Given the description of an element on the screen output the (x, y) to click on. 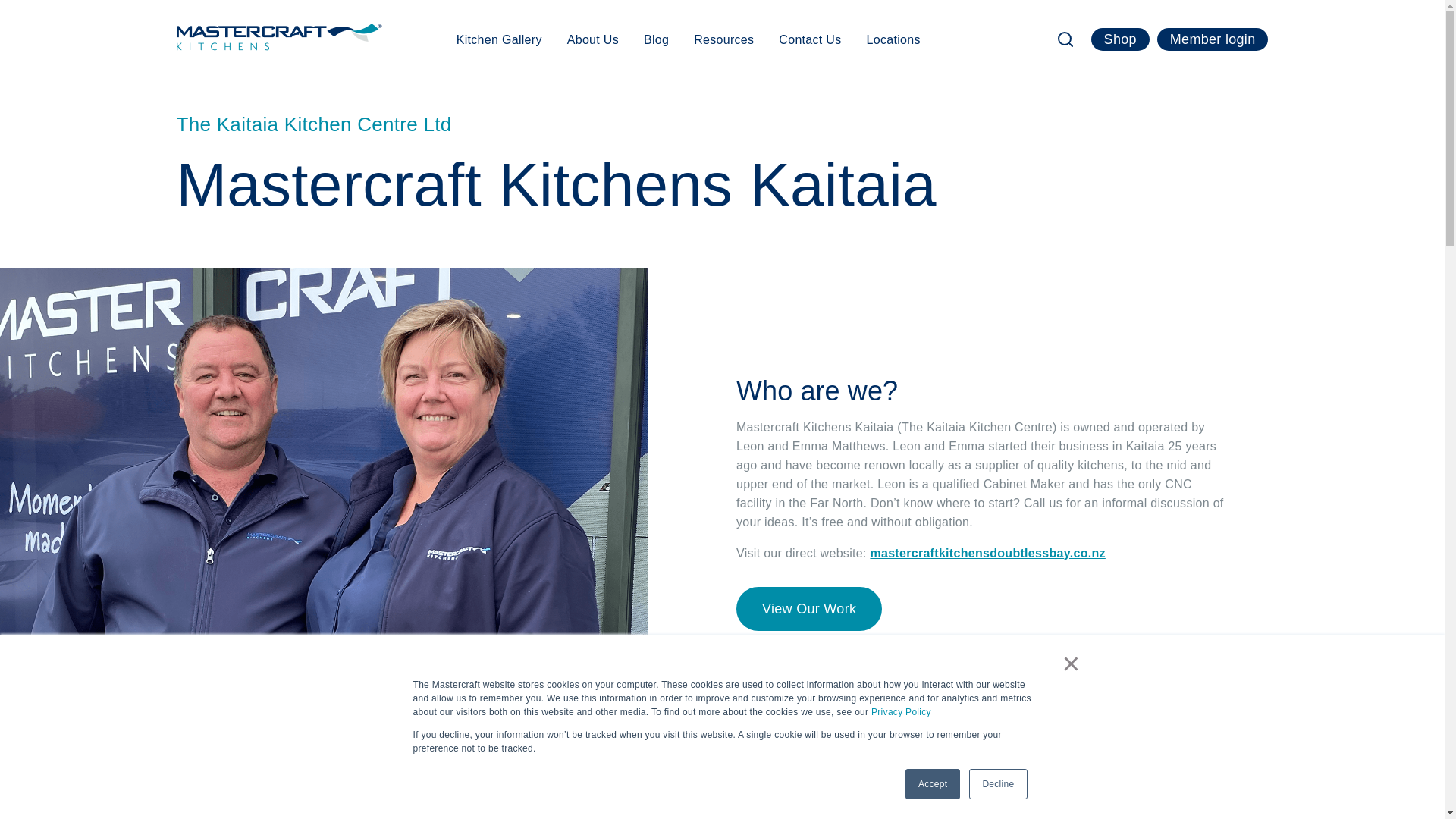
View Our Work (809, 608)
mastercraftkitchensdoubtlessbay.co.nz (987, 552)
Book a Consultation (1327, 709)
Shop (1120, 38)
Locations (893, 39)
Mastercraft Kitchens (278, 36)
Find Us (1327, 757)
Blog (655, 39)
About Us (592, 39)
Accept (932, 784)
Contact Us (809, 39)
Kitchen Gallery (499, 39)
Decline (997, 784)
Member login (1212, 38)
Privacy Policy (900, 711)
